Given the description of an element on the screen output the (x, y) to click on. 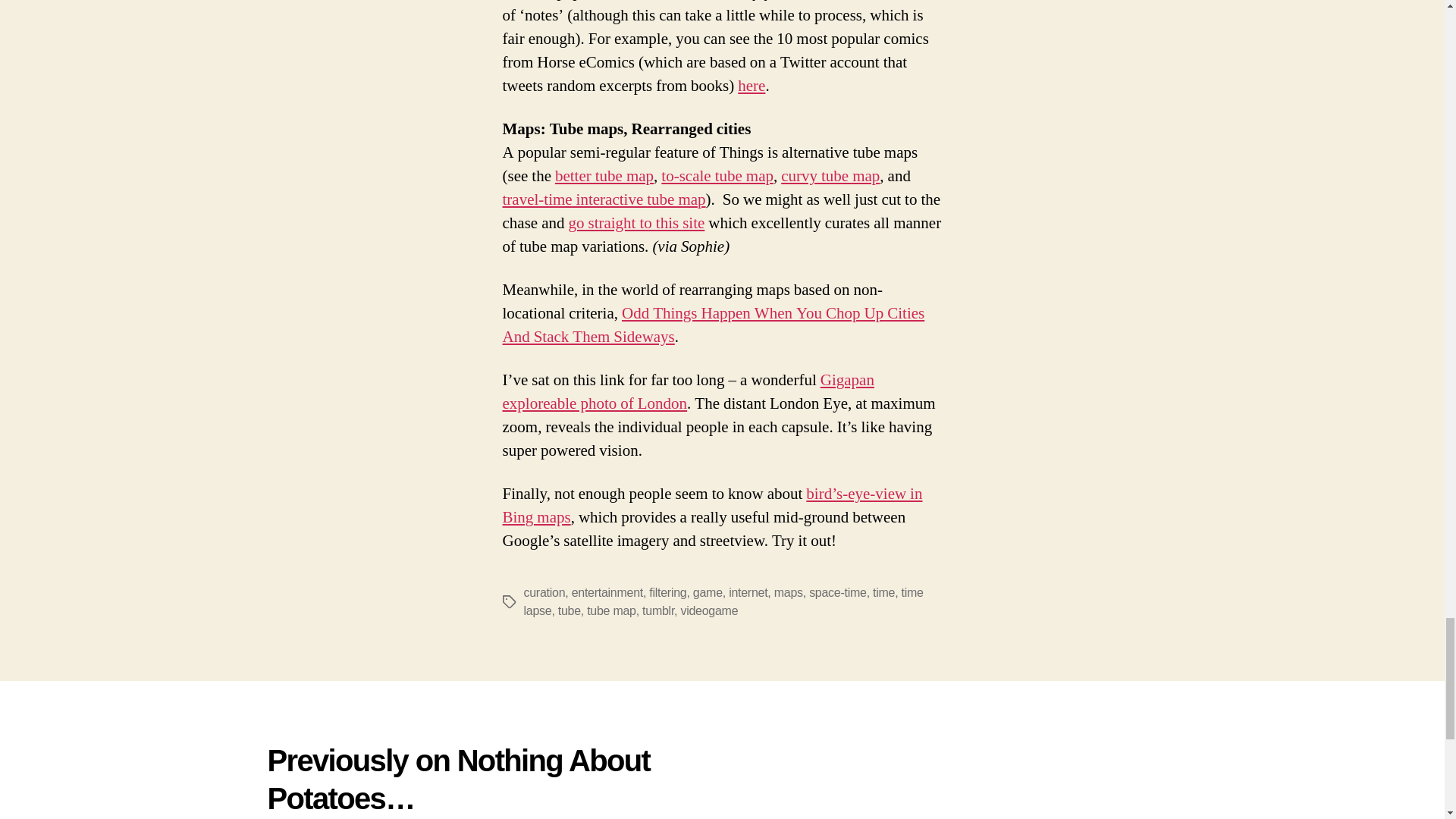
travel-time interactive tube map (603, 199)
to-scale tube map (717, 176)
better tube map (603, 176)
curvy tube map (829, 176)
go straight to this site (635, 222)
here (751, 86)
